Given the description of an element on the screen output the (x, y) to click on. 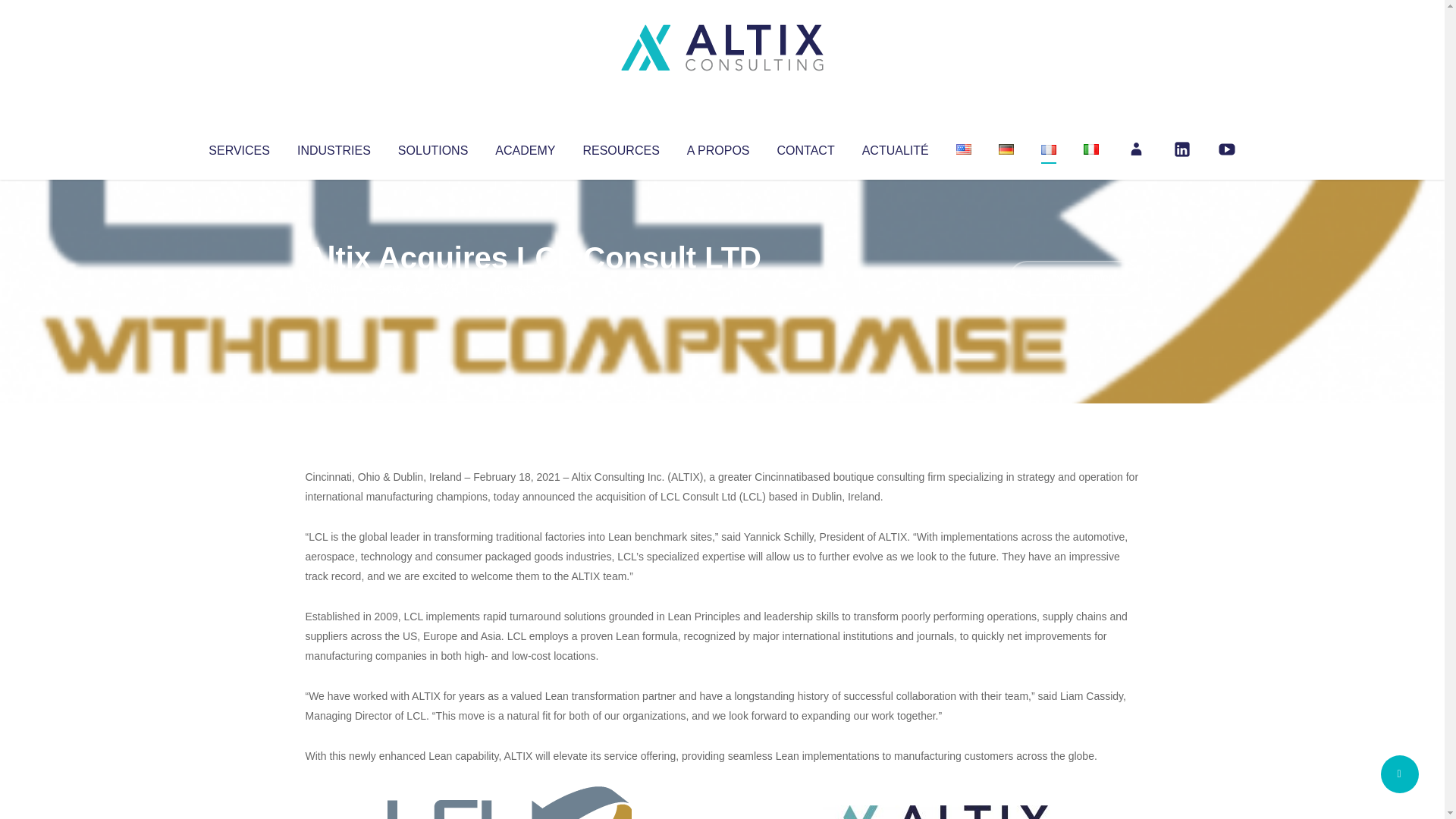
Articles par Altix (333, 287)
SERVICES (238, 146)
No Comments (1073, 278)
Altix (333, 287)
RESOURCES (620, 146)
INDUSTRIES (334, 146)
A PROPOS (718, 146)
ACADEMY (524, 146)
Uncategorized (530, 287)
SOLUTIONS (432, 146)
